Given the description of an element on the screen output the (x, y) to click on. 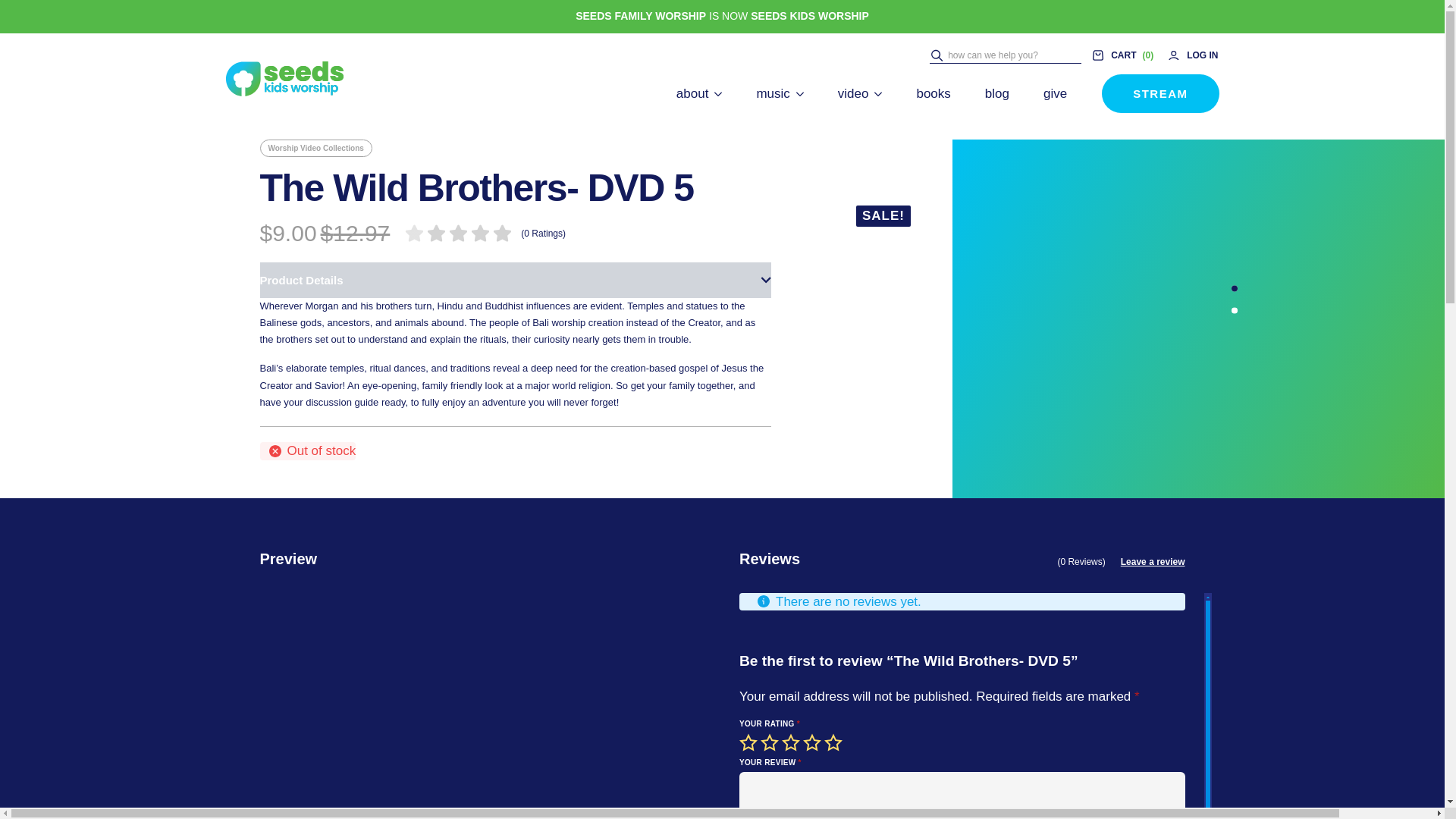
Worship Video Collections (315, 148)
1 (749, 742)
Product Details (514, 280)
3 (792, 742)
LOG IN (1191, 55)
Leave a review (1153, 561)
Wild Brothers (1031, 299)
STREAM (1160, 93)
SEEDS FAMILY WORSHIP IS NOW SEEDS KIDS WORSHIP (722, 16)
music (772, 93)
